Given the description of an element on the screen output the (x, y) to click on. 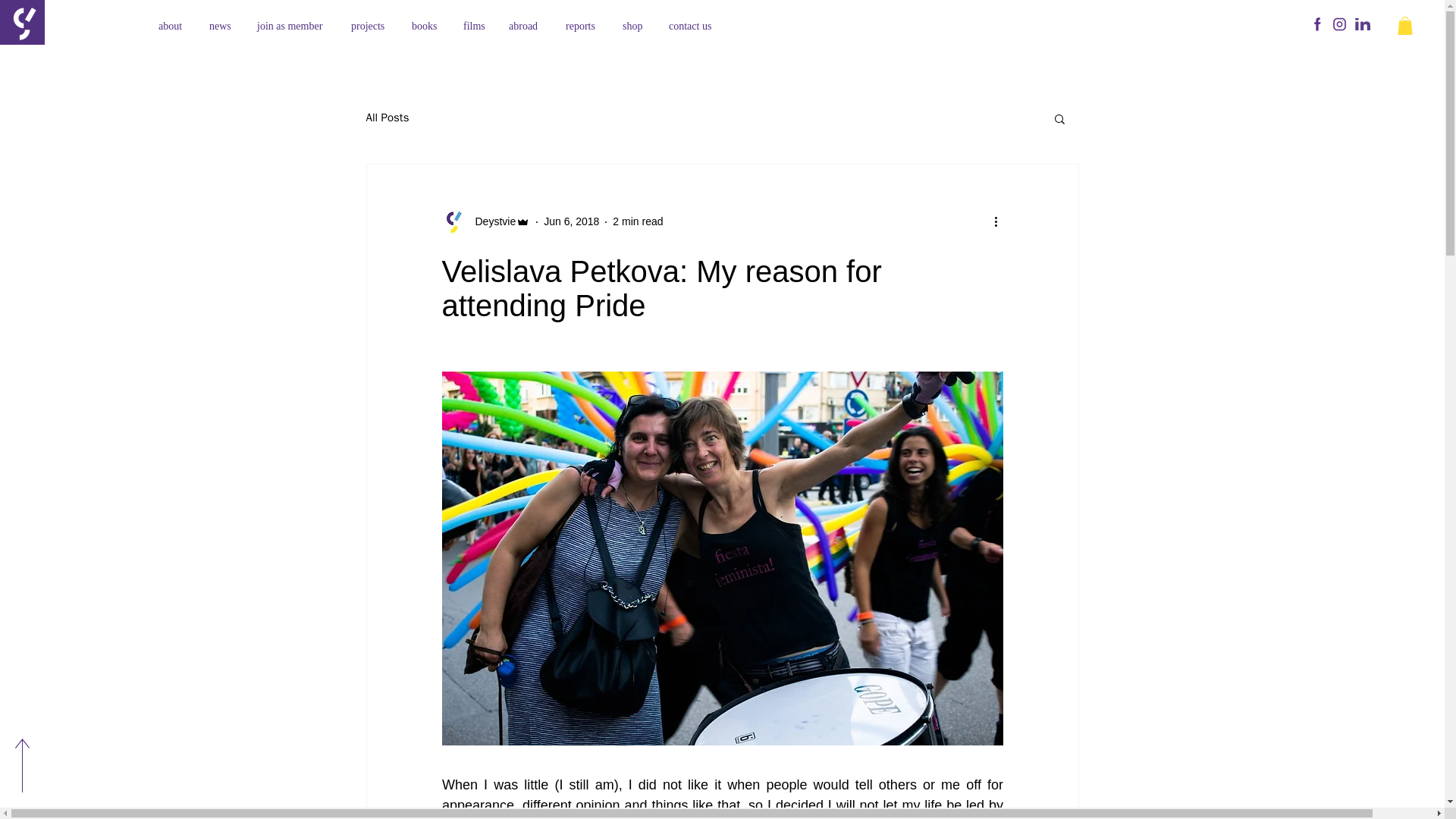
news (222, 26)
Deystvie (490, 221)
join as member (292, 26)
2 min read (637, 221)
abroad (525, 26)
Jun 6, 2018 (570, 221)
shop (634, 26)
about (172, 26)
films (474, 26)
reports (582, 26)
Deystvie (485, 221)
contact us (694, 26)
books (425, 26)
All Posts (387, 117)
projects (369, 26)
